Given the description of an element on the screen output the (x, y) to click on. 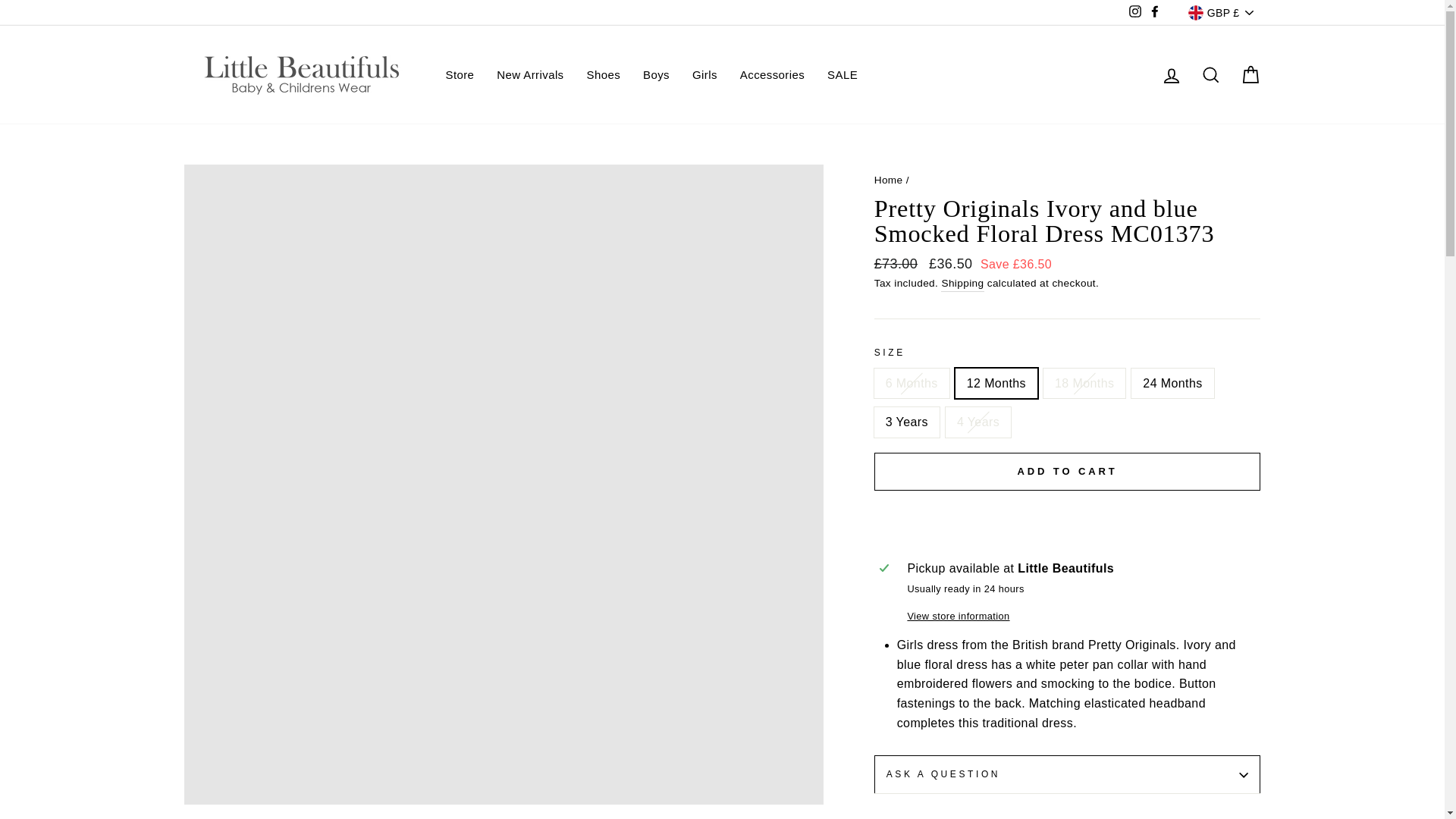
Share on Facebook (904, 817)
Tweet on Twitter (977, 817)
Back to the frontpage (888, 179)
Pin on Pinterest (1049, 817)
